Given the description of an element on the screen output the (x, y) to click on. 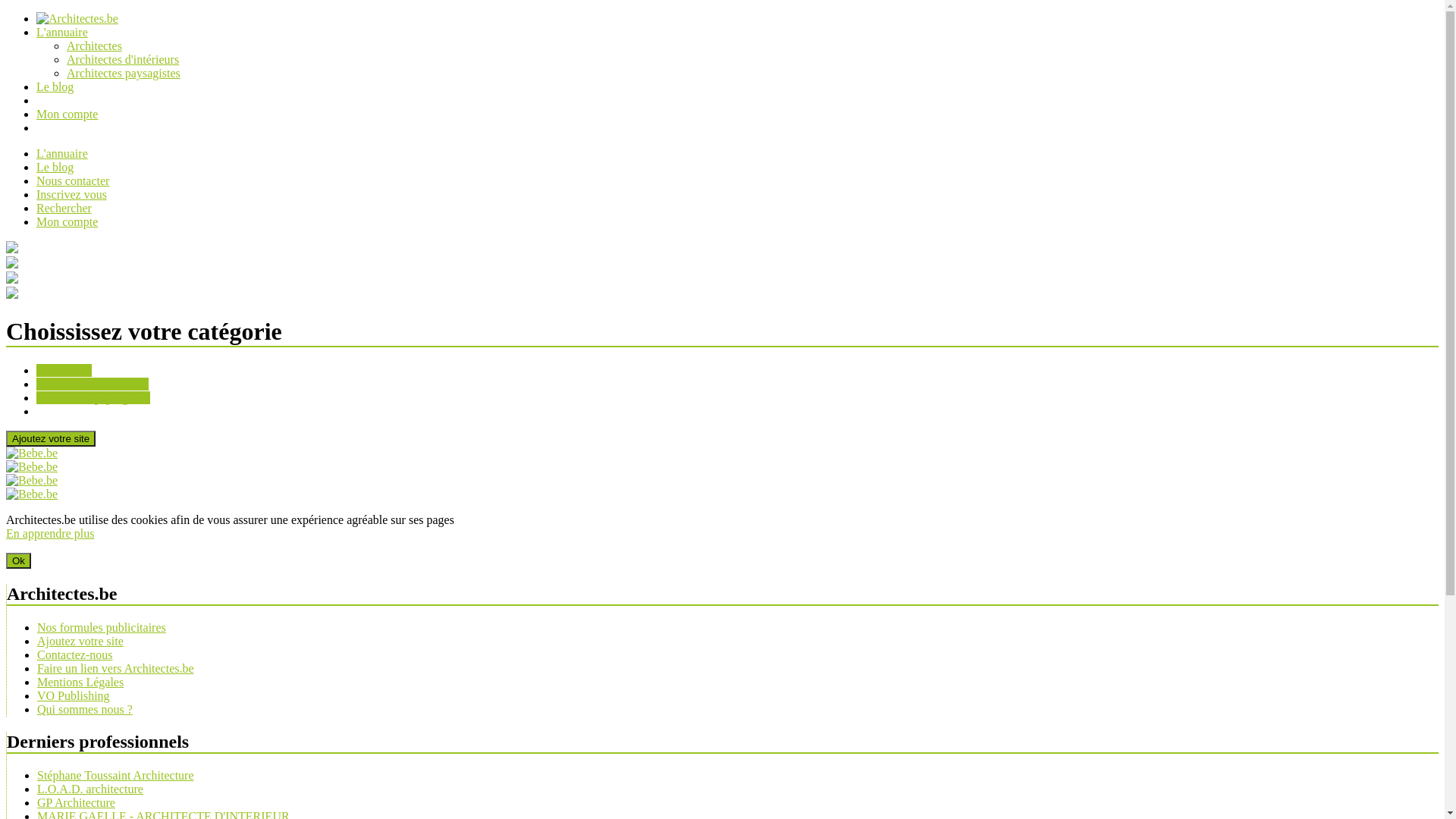
Nous contacter Element type: text (72, 180)
L'annuaire Element type: text (61, 31)
L'annuaire Element type: text (61, 153)
Bebe.be Element type: hover (31, 493)
Architectes.be Element type: hover (77, 18)
GP Architecture Element type: text (76, 802)
Mon compte Element type: text (66, 221)
Contactez-nous Element type: text (74, 654)
Nos formules publicitaires Element type: text (101, 627)
L.O.A.D. architecture Element type: text (90, 788)
Faire un lien vers Architectes.be Element type: text (115, 668)
Qui sommes nous ? Element type: text (84, 708)
Ajoutez votre site Element type: text (50, 438)
Architectes Element type: text (94, 45)
Le blog Element type: text (54, 166)
Le blog Element type: text (54, 86)
Ajoutez votre site Element type: text (80, 640)
Bebe.be Element type: hover (31, 452)
Inscrivez vous Element type: text (71, 194)
En apprendre plus Element type: text (50, 533)
Architectes paysagistes Element type: text (123, 72)
Ok Element type: text (18, 560)
Bebe.be Element type: hover (31, 466)
Ajoutez votre site Element type: text (50, 437)
VO Publishing Element type: text (73, 695)
Rechercher Element type: text (63, 207)
Architectes paysagistes Element type: text (93, 397)
Bebe.be Element type: hover (31, 479)
Architectes Element type: text (63, 370)
Mon compte Element type: text (66, 113)
